Given the description of an element on the screen output the (x, y) to click on. 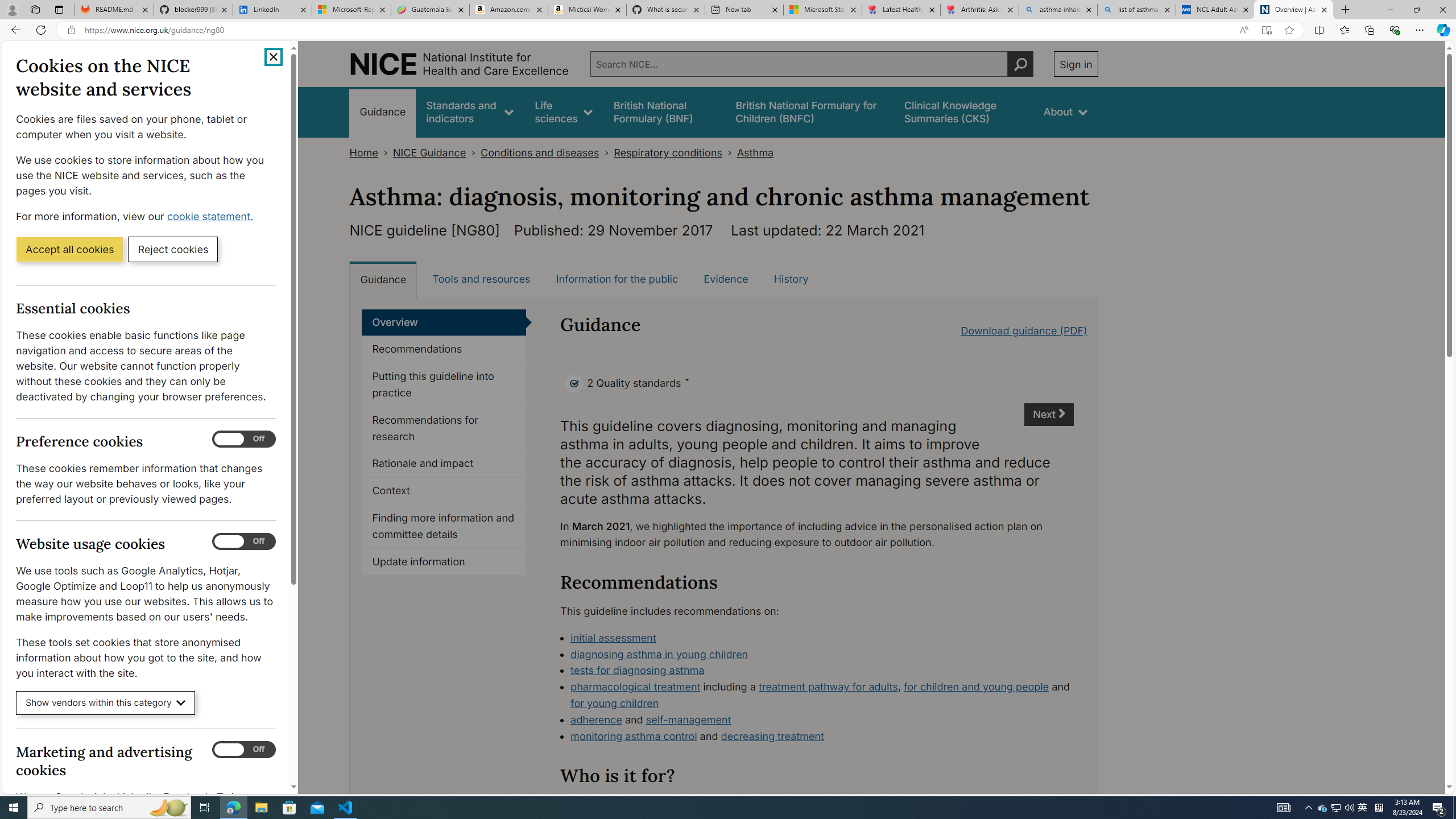
Update information (443, 561)
Finding more information and committee details (443, 526)
Context (444, 491)
Respiratory conditions (667, 152)
false (963, 111)
Perform search (1020, 63)
Tools and resources (481, 279)
